Given the description of an element on the screen output the (x, y) to click on. 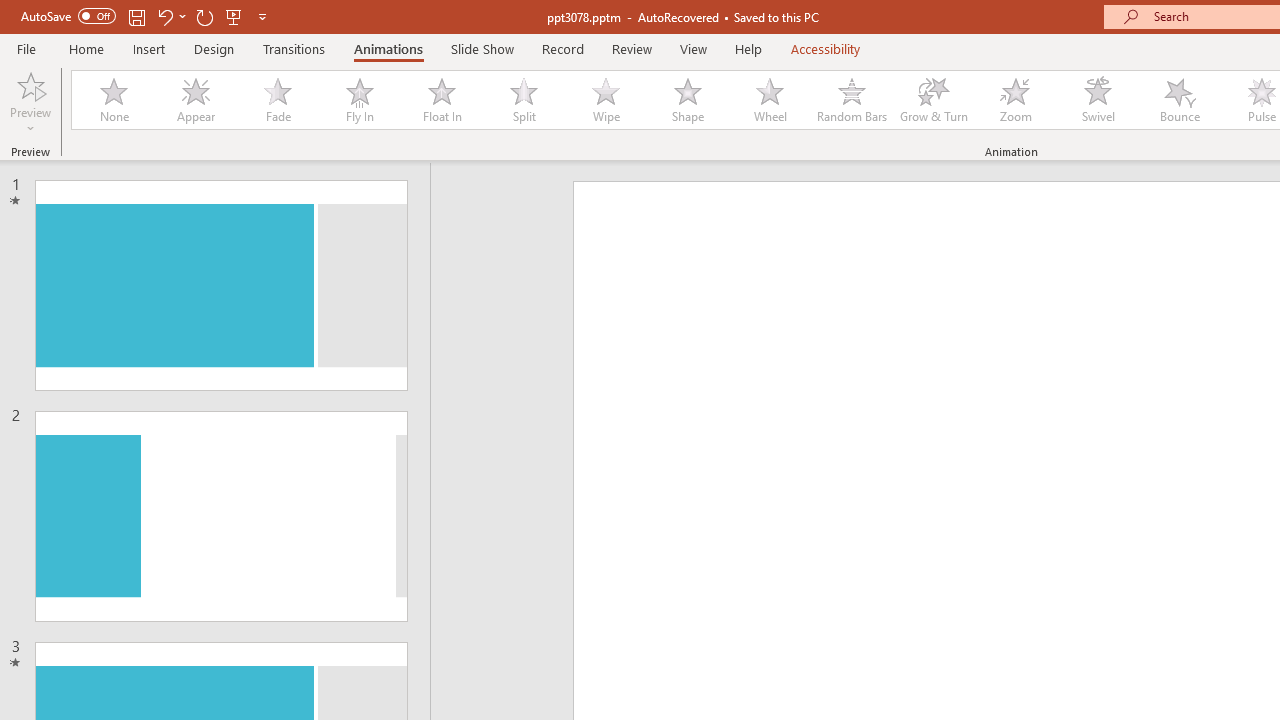
Swivel (1098, 100)
Preview (30, 84)
Wheel (770, 100)
Float In (441, 100)
None (113, 100)
Bounce (1180, 100)
Fade (277, 100)
